Given the description of an element on the screen output the (x, y) to click on. 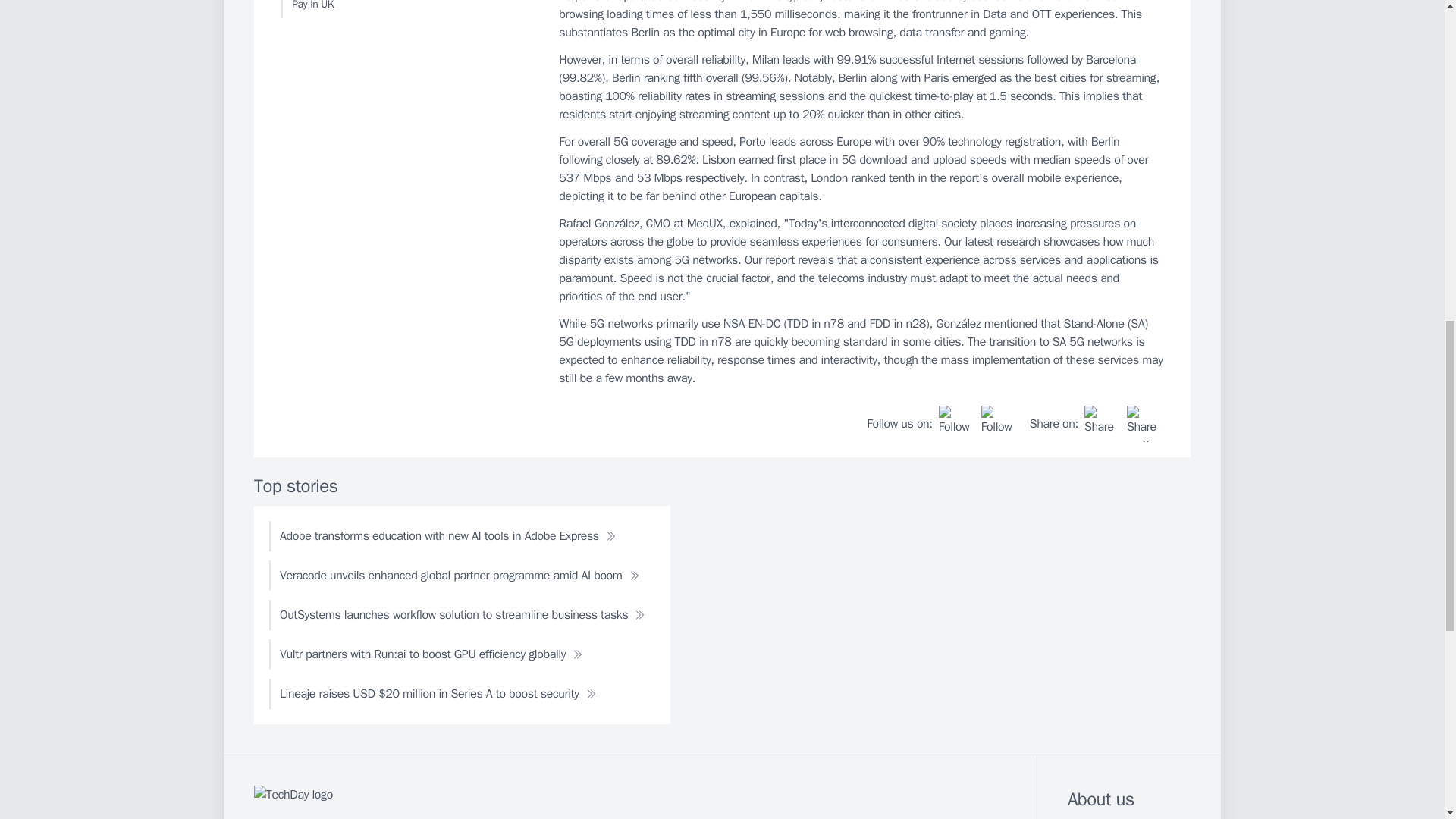
Vultr partners with Run:ai to boost GPU efficiency globally (430, 654)
